Given the description of an element on the screen output the (x, y) to click on. 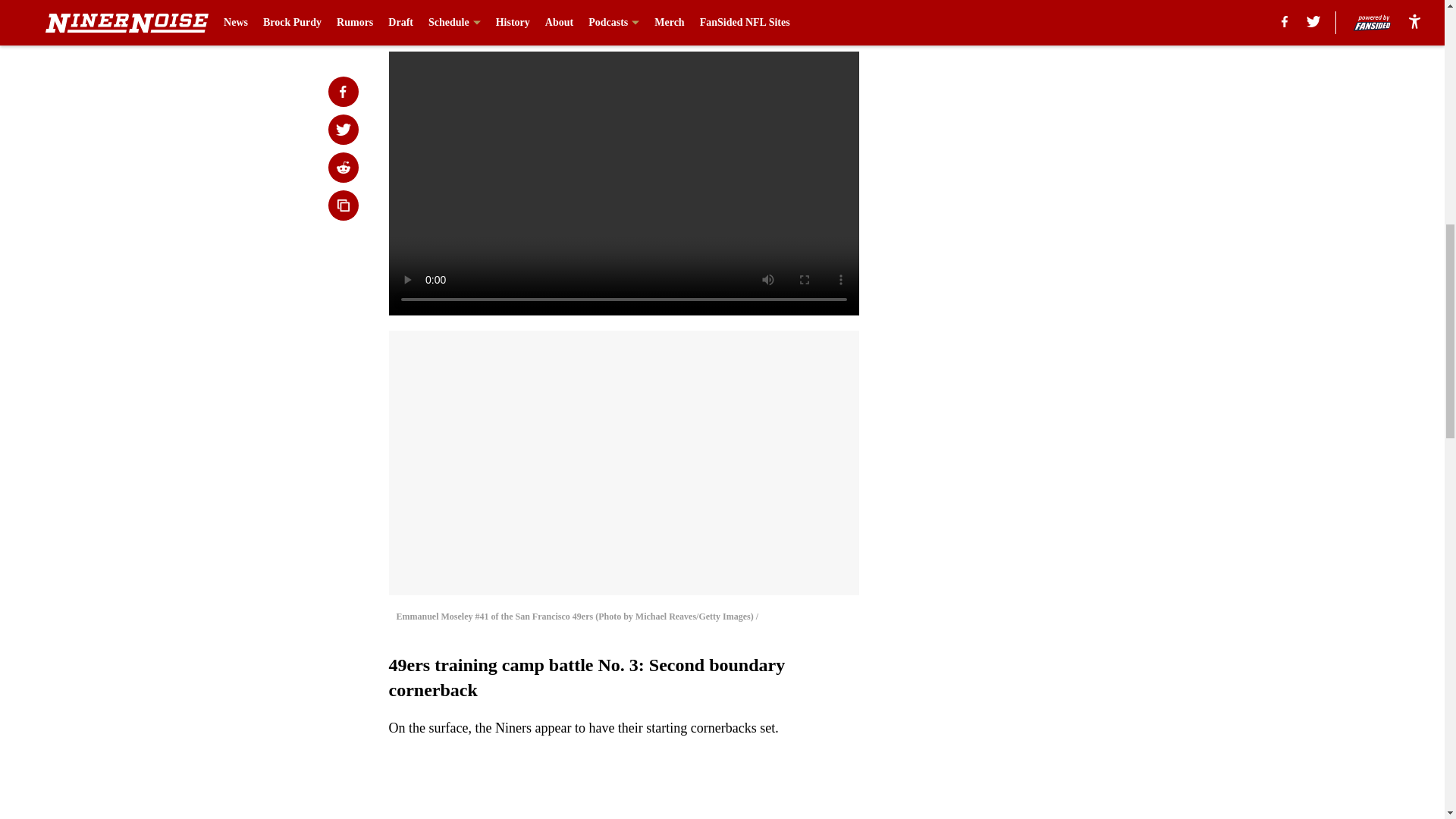
Next (813, 20)
3rd party ad content (1047, 100)
Prev (433, 20)
3rd party ad content (1047, 320)
